Given the description of an element on the screen output the (x, y) to click on. 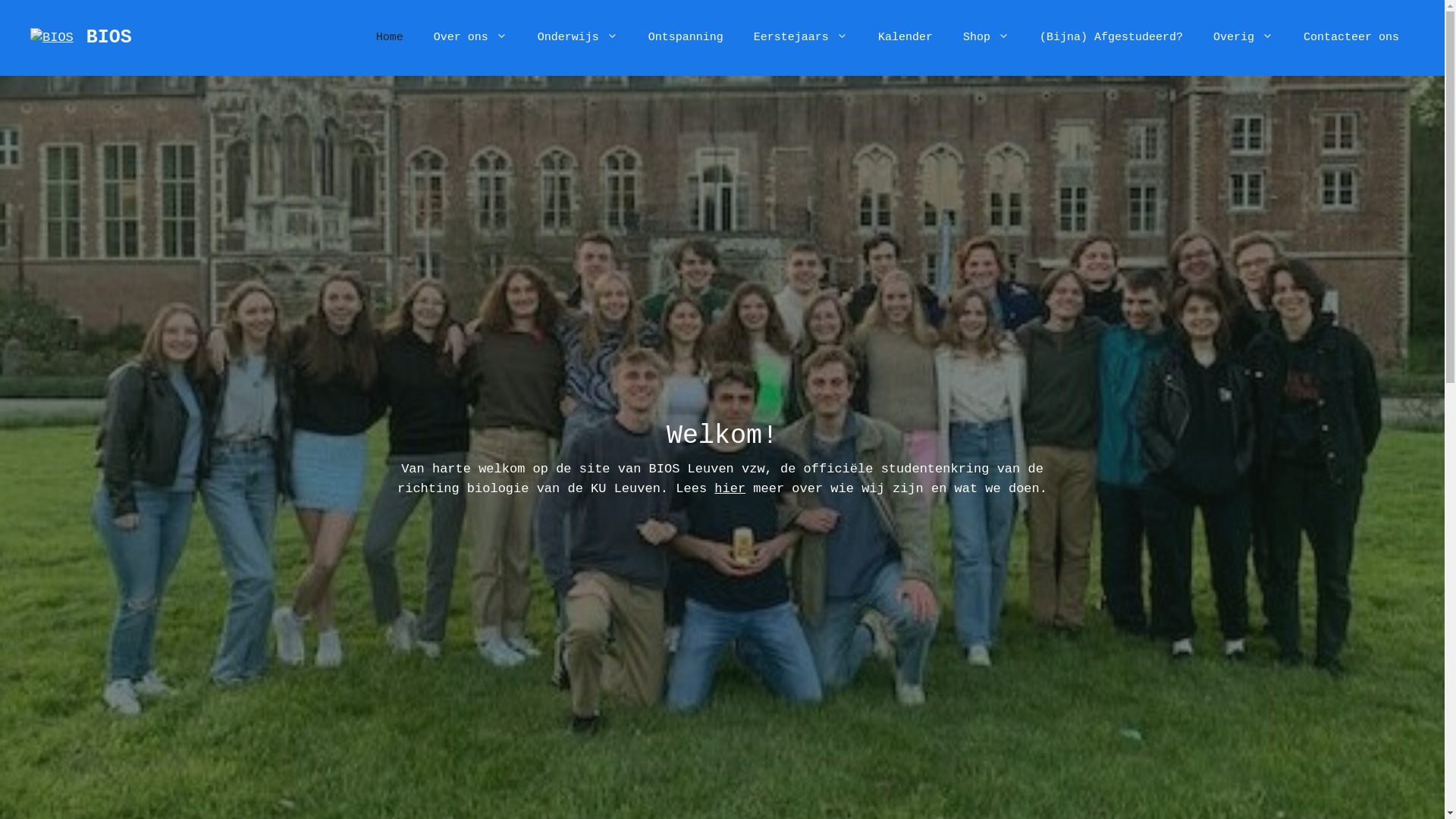
Onderwijs Element type: text (577, 37)
hier Element type: text (729, 488)
Kalender Element type: text (904, 37)
Over ons Element type: text (470, 37)
Home Element type: text (389, 37)
(Bijna) Afgestudeerd? Element type: text (1111, 37)
BIOS Element type: text (108, 37)
Shop Element type: text (985, 37)
Eerstejaars Element type: text (800, 37)
Ontspanning Element type: text (685, 37)
Contacteer ons Element type: text (1351, 37)
Overig Element type: text (1243, 37)
